Given the description of an element on the screen output the (x, y) to click on. 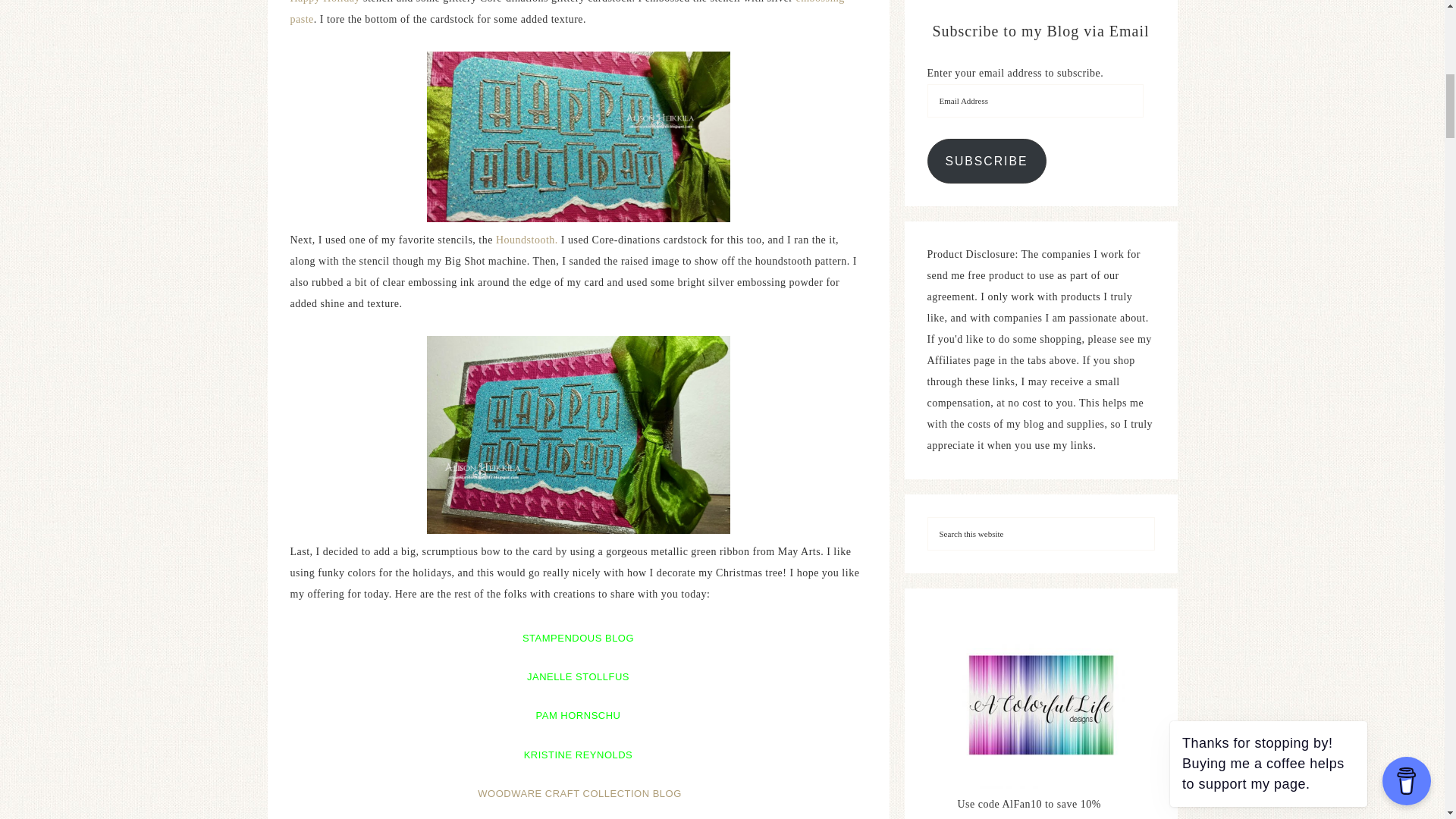
WOODWARE CRAFT COLLECTION BLOG (579, 793)
STAMPENDOUS BLOG (577, 635)
JANELLE STOLLFUS (577, 674)
Houndstooth. (526, 239)
Happy Holiday (324, 2)
embossing paste (566, 12)
KRISTINE REYNOLDS (578, 752)
PAM HORNSCHU (578, 712)
